Given the description of an element on the screen output the (x, y) to click on. 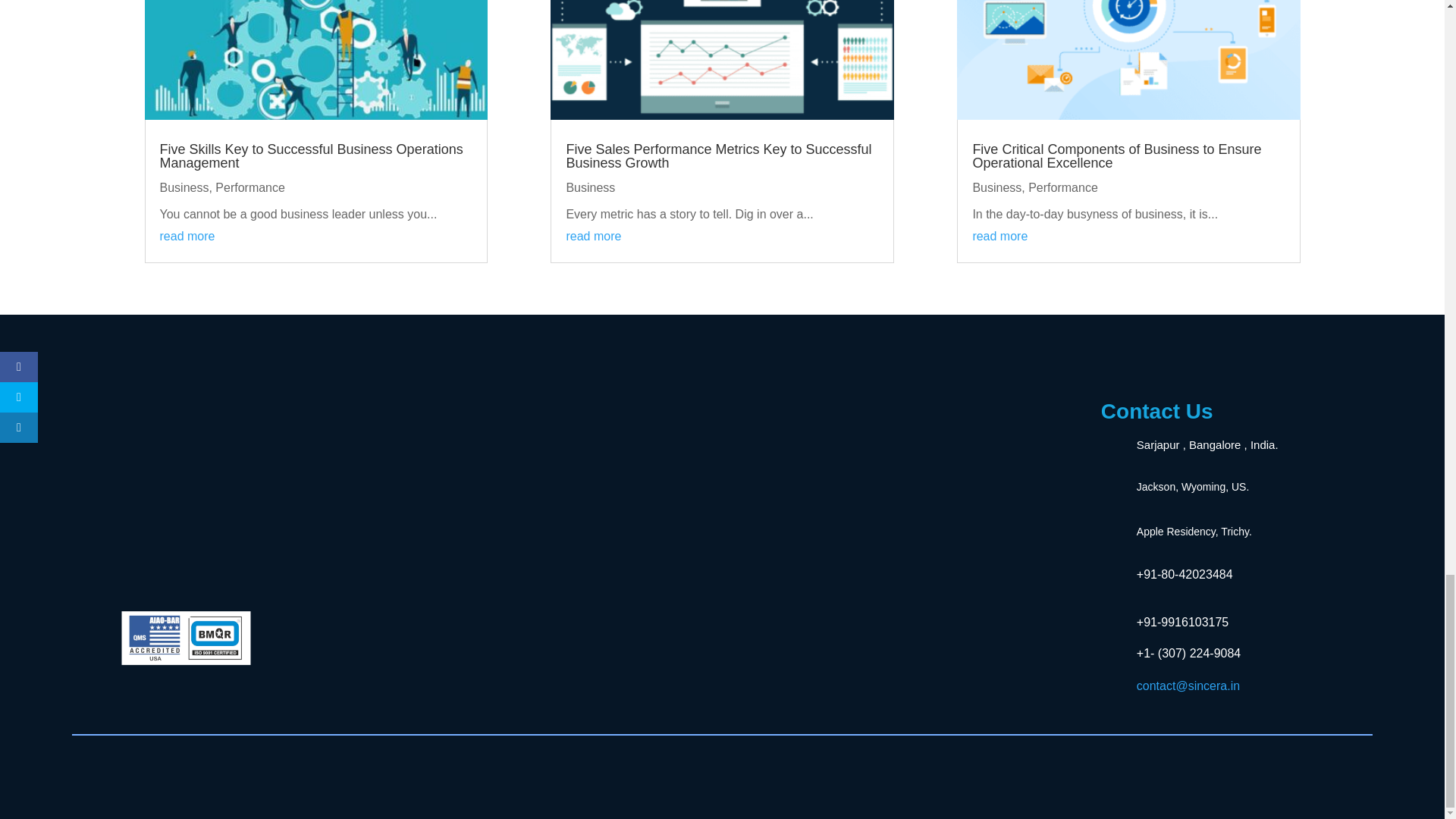
footer-isc (185, 637)
